Given the description of an element on the screen output the (x, y) to click on. 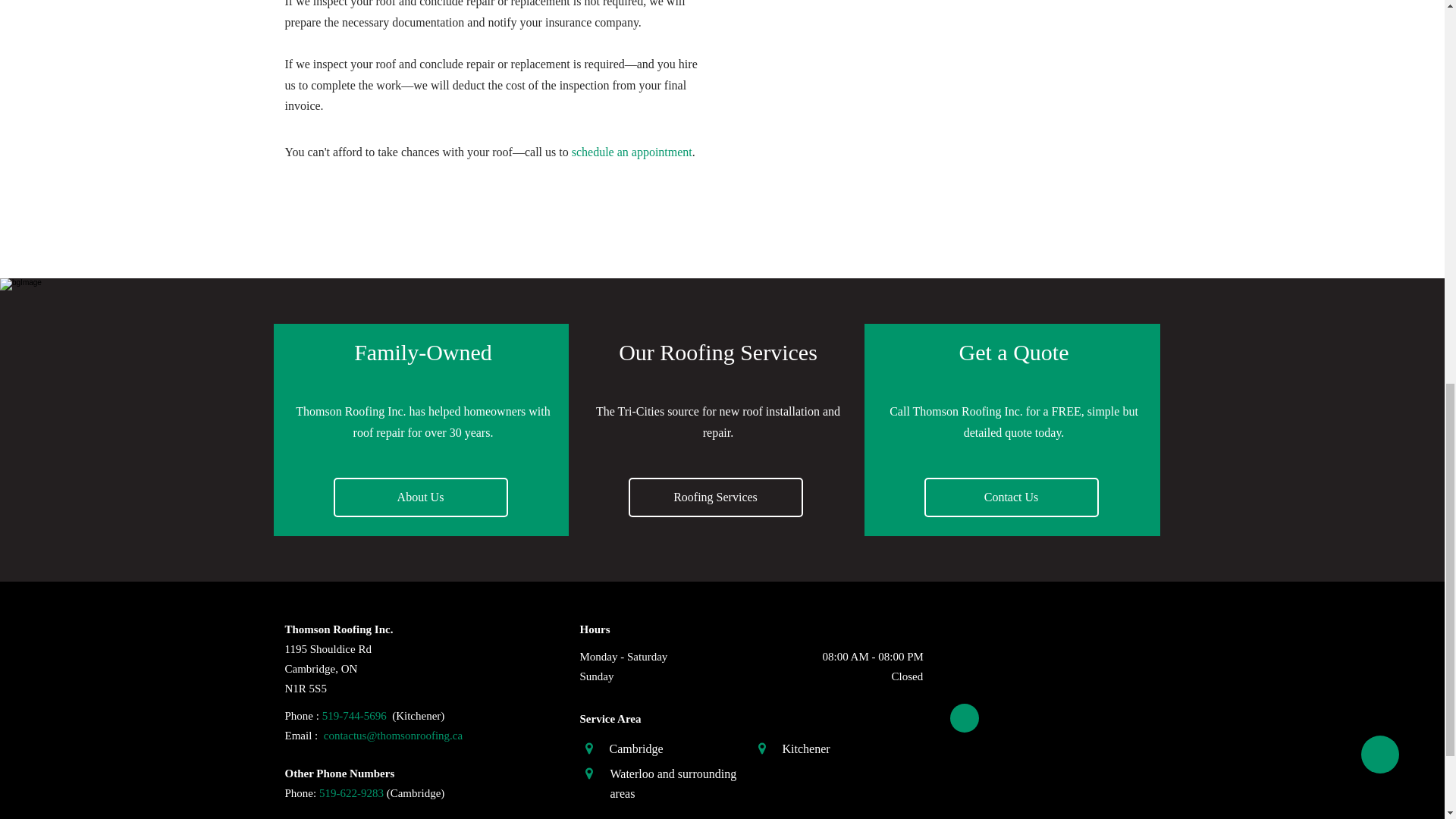
About Us (420, 496)
519-744-5696 (354, 716)
schedule an appointment (631, 151)
Roofing Services (714, 496)
519-622-9283 (351, 794)
Contact Us (1010, 496)
